Given the description of an element on the screen output the (x, y) to click on. 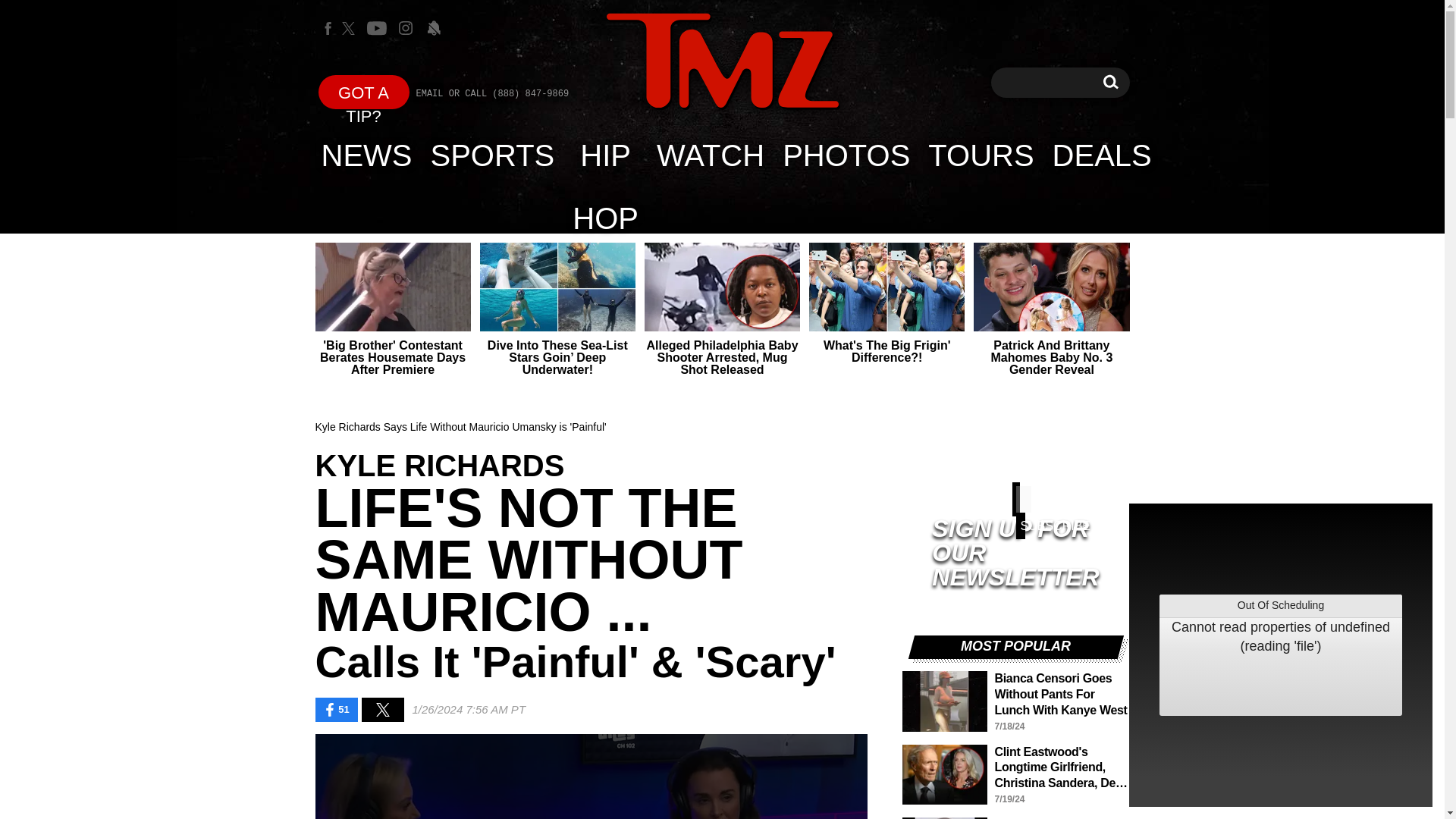
NEWS (367, 154)
Search (1110, 81)
PHOTOS (845, 154)
TMZ (722, 62)
GOT A TIP? (1110, 82)
DEALS (363, 91)
SPORTS (1101, 154)
HIP HOP (493, 154)
TMZ (605, 154)
WATCH (722, 60)
TOURS (710, 154)
